Given the description of an element on the screen output the (x, y) to click on. 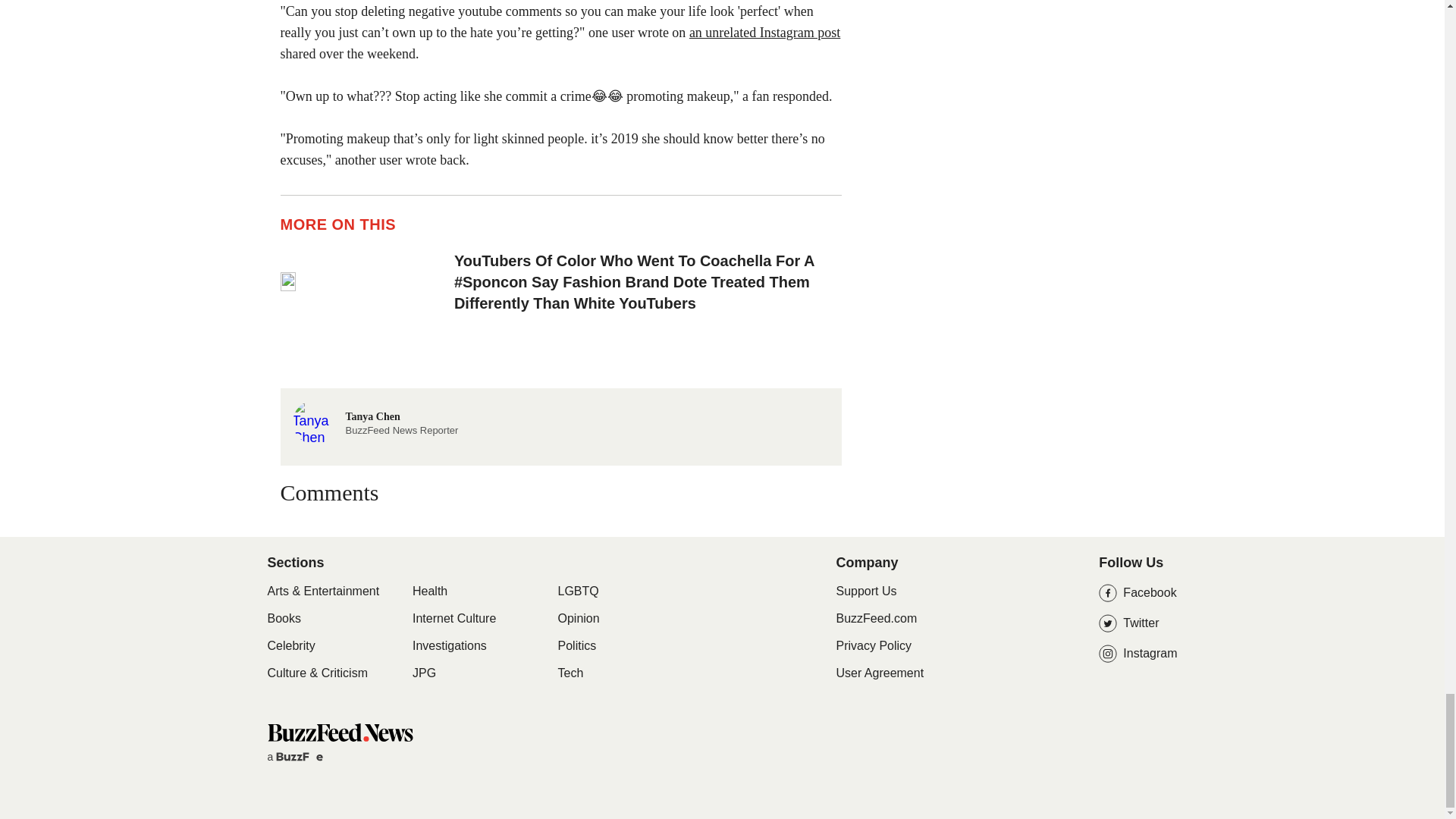
Health (429, 668)
instagram.com (312, 4)
an unrelated Instagram post (764, 109)
Celebrity (290, 723)
Books (282, 695)
